Given the description of an element on the screen output the (x, y) to click on. 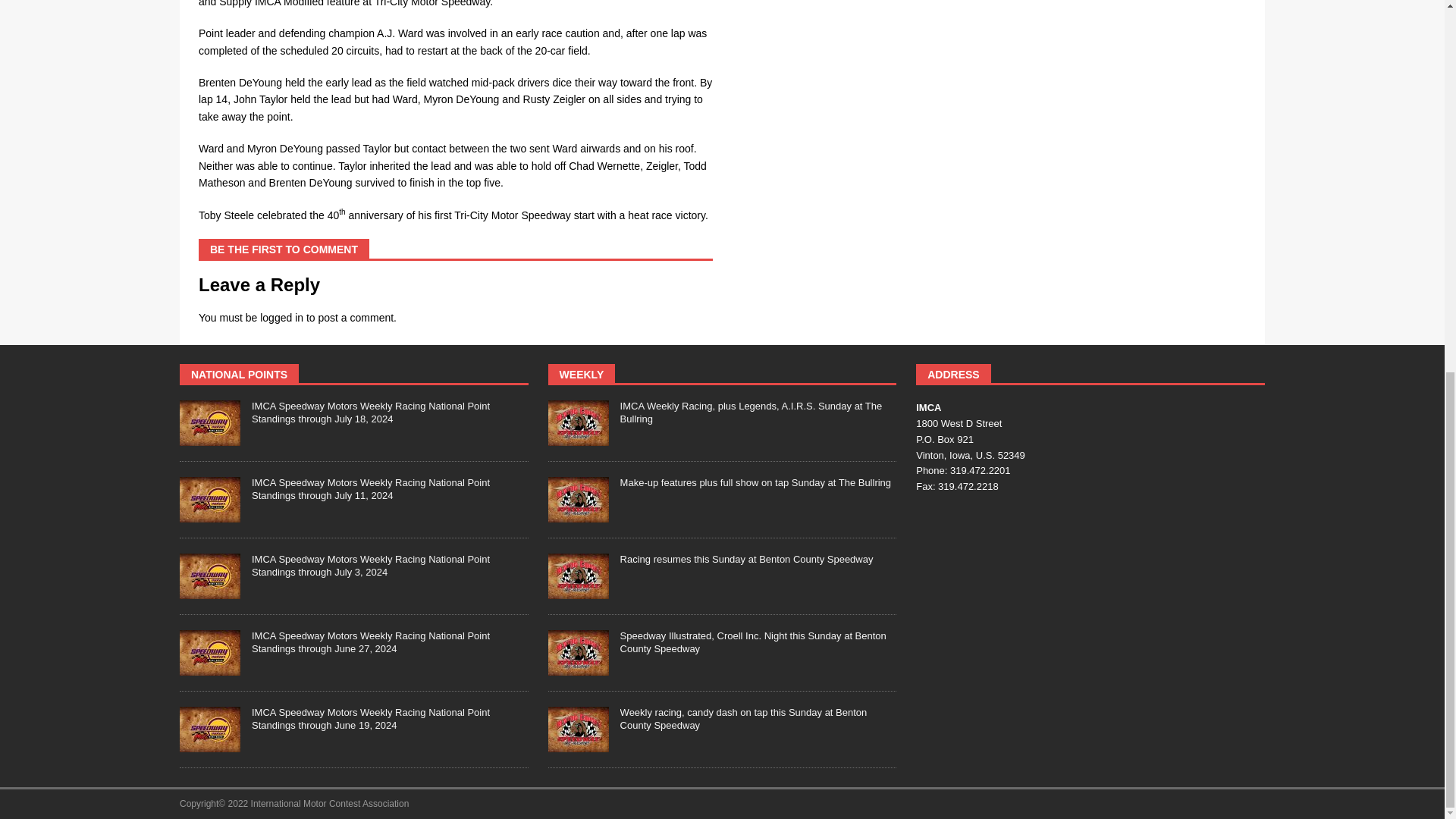
Racing resumes this Sunday at Benton County Speedway (578, 575)
